Given the description of an element on the screen output the (x, y) to click on. 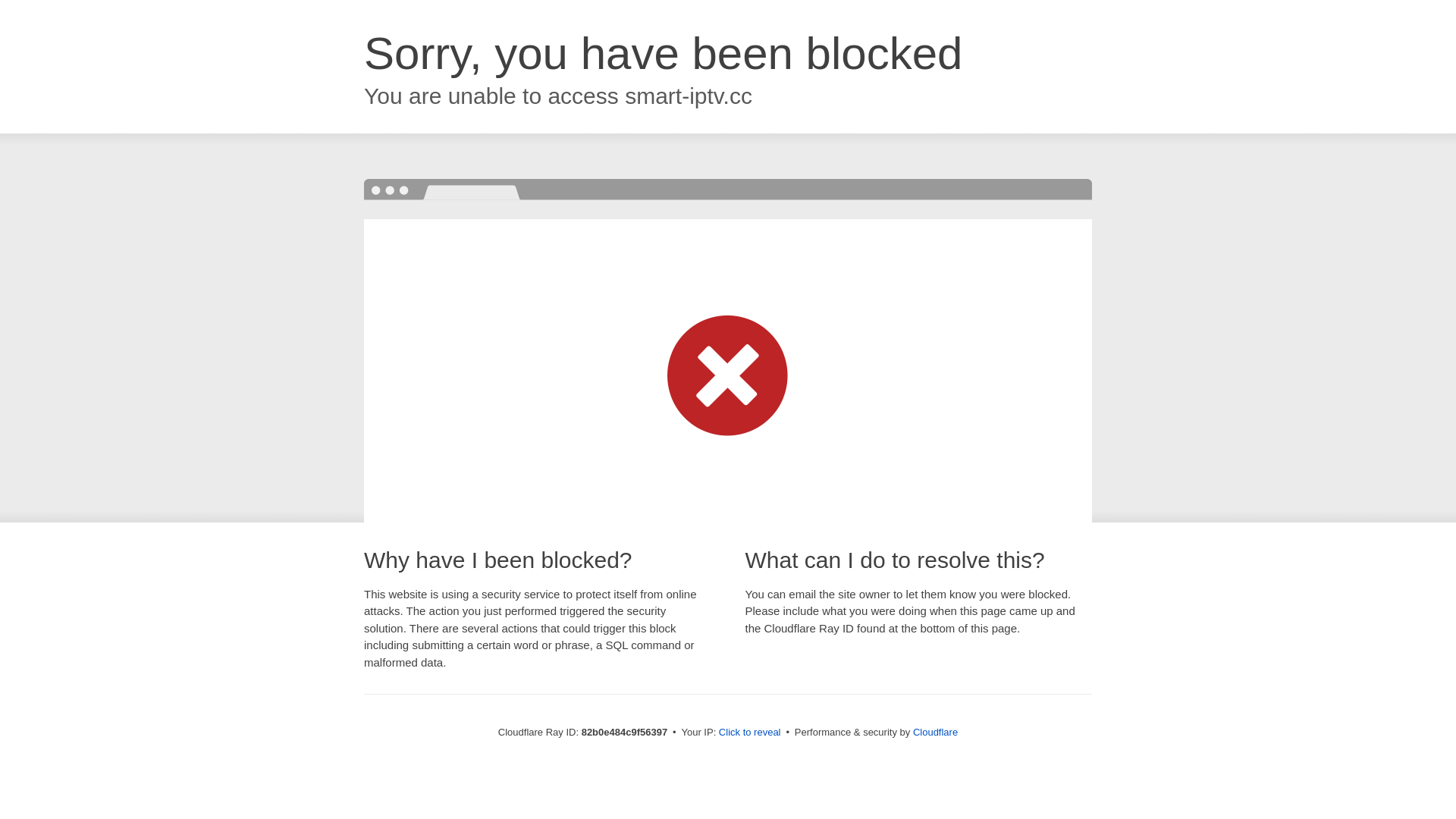
Click to reveal Element type: text (749, 732)
Cloudflare Element type: text (935, 731)
